Given the description of an element on the screen output the (x, y) to click on. 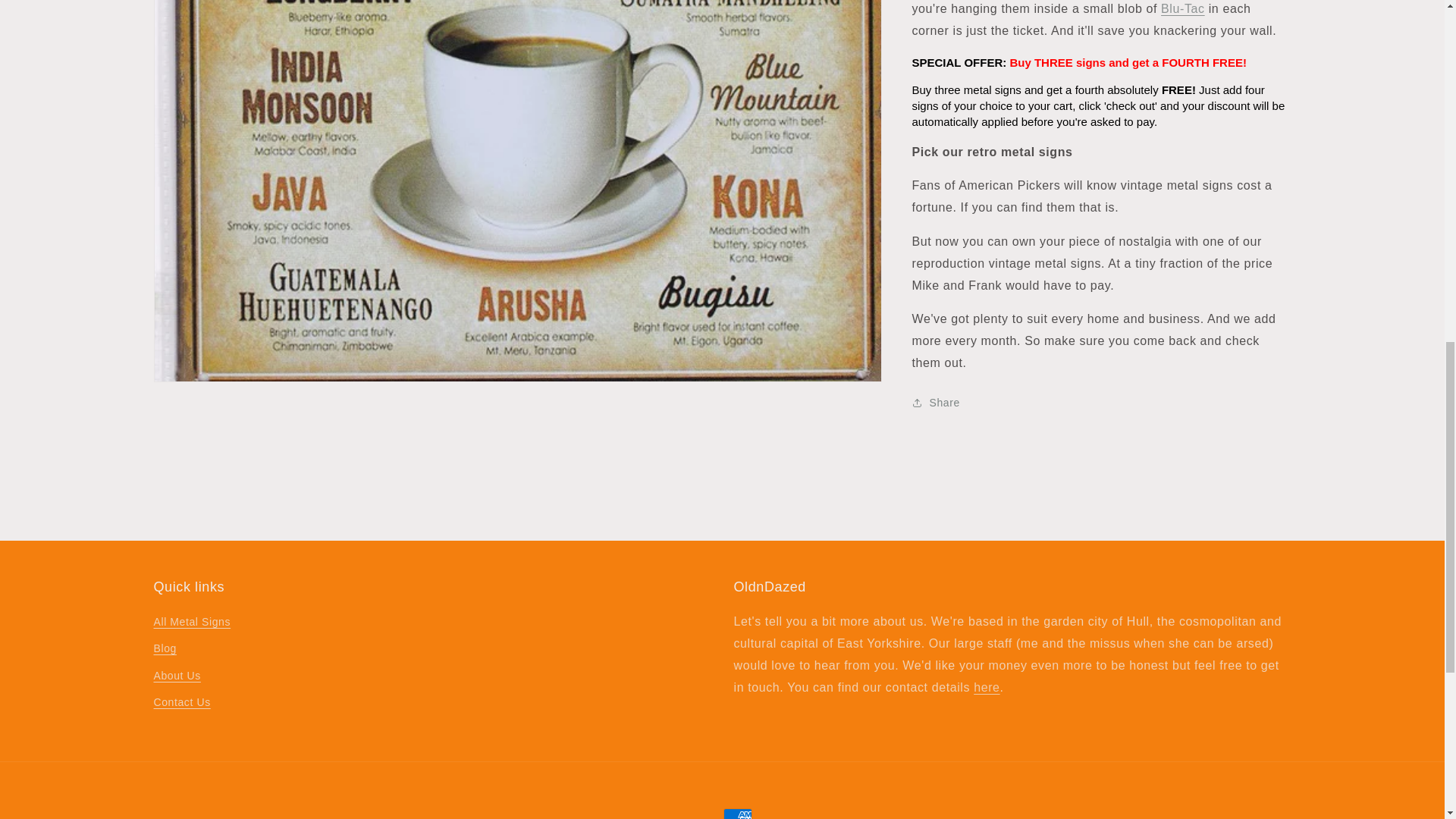
Contact Us (986, 686)
American Express (737, 813)
